Given the description of an element on the screen output the (x, y) to click on. 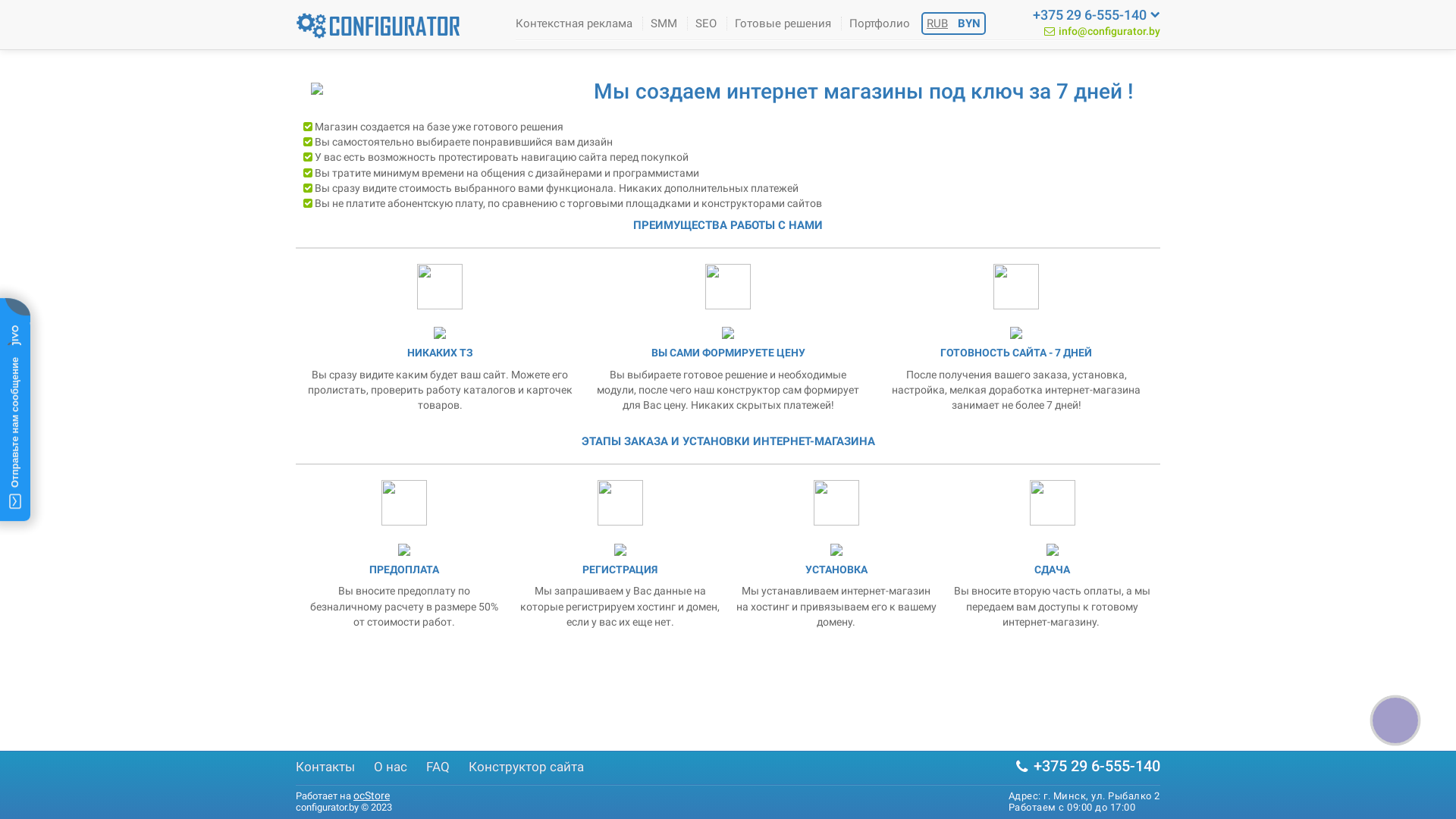
ocStore Element type: text (371, 795)
BYN Element type: text (968, 23)
SMM Element type: text (663, 23)
FAQ Element type: text (437, 766)
SEO Element type: text (705, 23)
RUB Element type: text (936, 23)
configurator.by Element type: hover (378, 25)
